Given the description of an element on the screen output the (x, y) to click on. 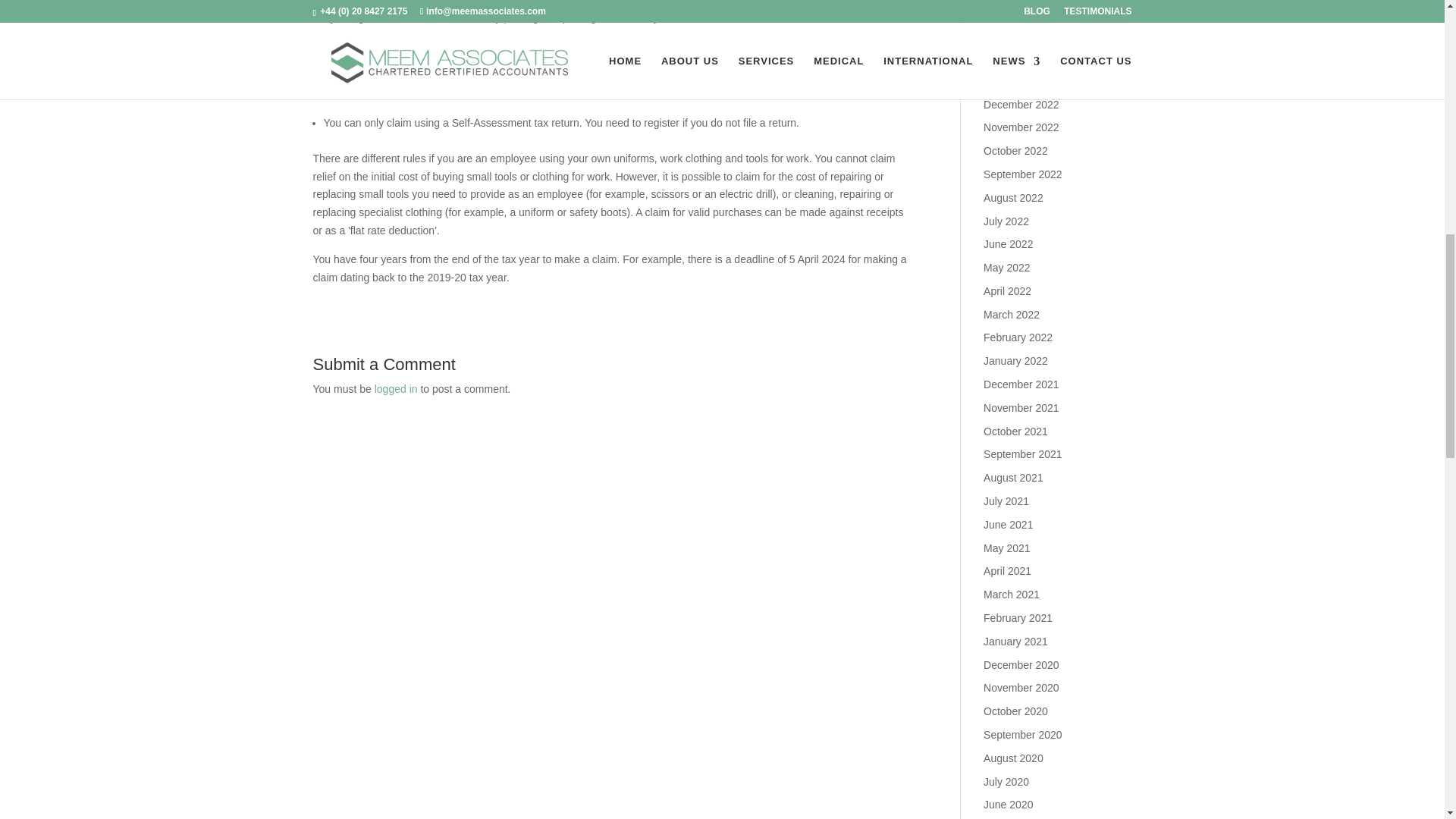
logged in (395, 388)
